Given the description of an element on the screen output the (x, y) to click on. 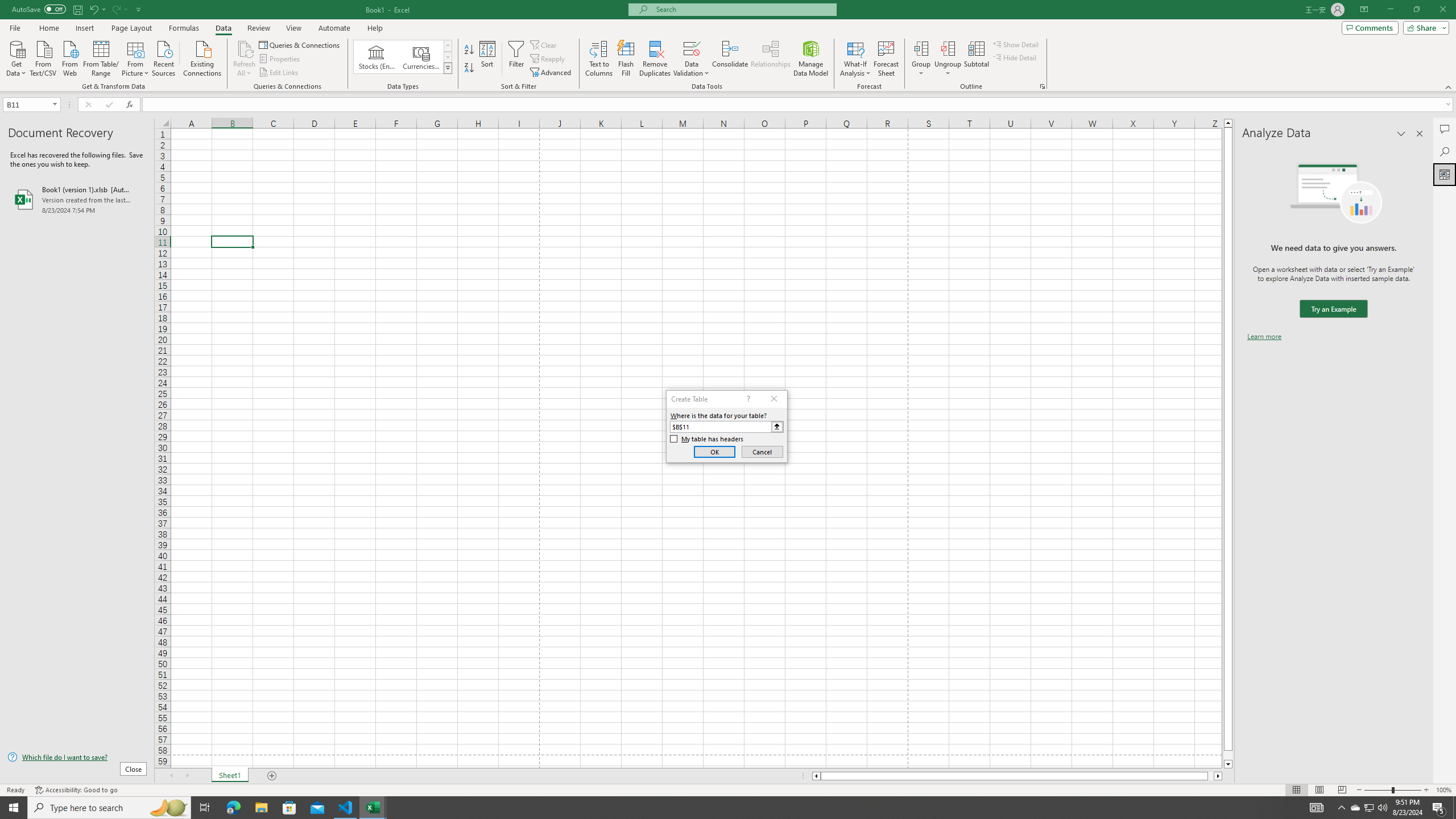
Undo (96, 9)
Add Sheet (272, 775)
Line down (1228, 764)
Search (1444, 151)
Page Layout (131, 28)
Group... (921, 48)
Sheet1 (229, 775)
Zoom Out (1377, 790)
Consolidate... (729, 58)
AutomationID: ConvertToLinkedEntity (403, 56)
Redo (119, 9)
Get Data (16, 57)
Data Validation... (691, 48)
From Text/CSV (43, 57)
Scroll Right (187, 775)
